Given the description of an element on the screen output the (x, y) to click on. 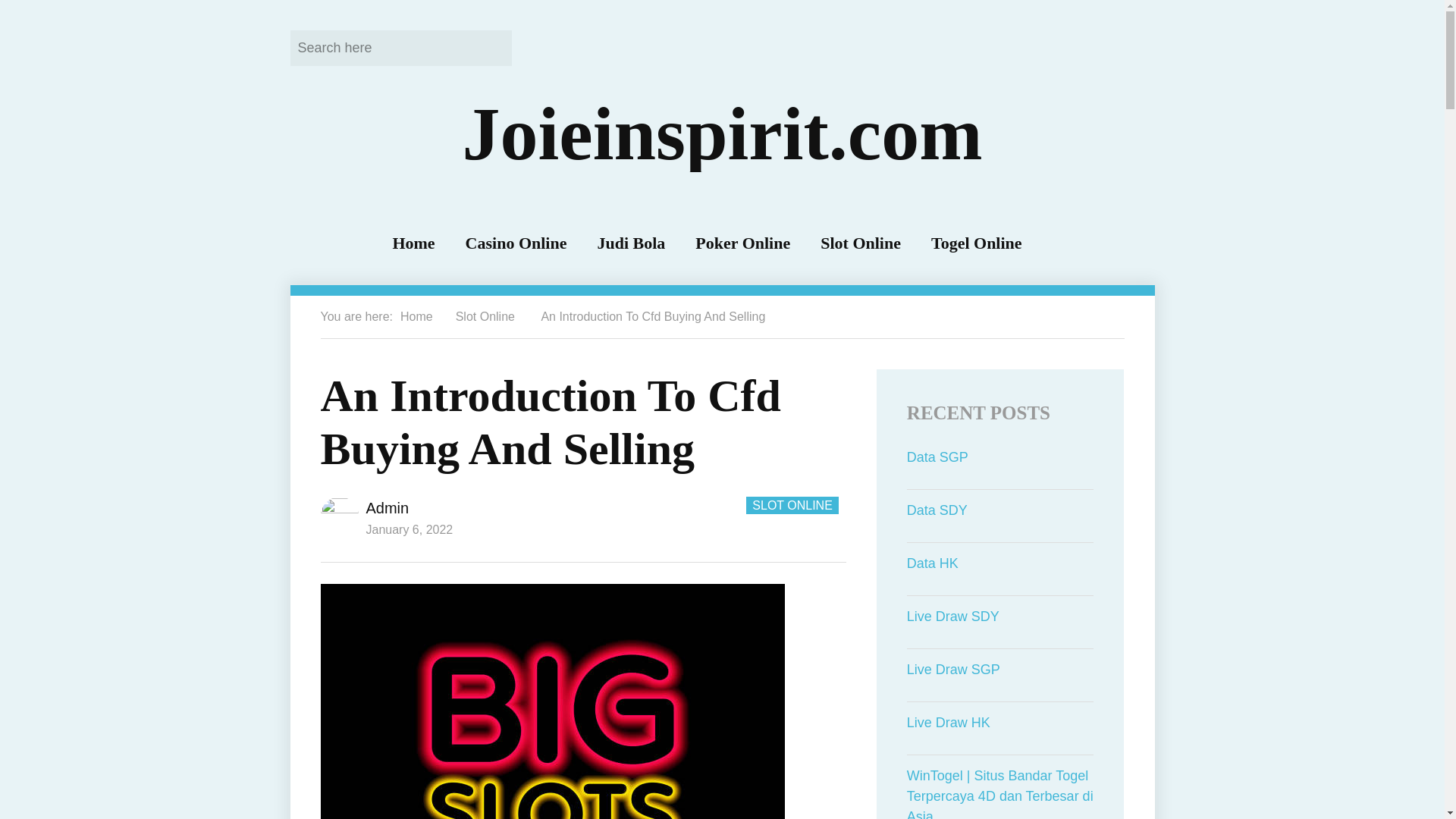
Casino Online (516, 243)
Judi Bola (630, 243)
Togel Online (976, 243)
Joieinspirit.com (721, 133)
Search (489, 47)
January 6, 2022 (408, 529)
Slot Online (485, 316)
Poker Online (742, 243)
Slot Online (861, 243)
SLOT ONLINE (791, 505)
Home (416, 316)
Home (412, 243)
Admin (387, 507)
